Given the description of an element on the screen output the (x, y) to click on. 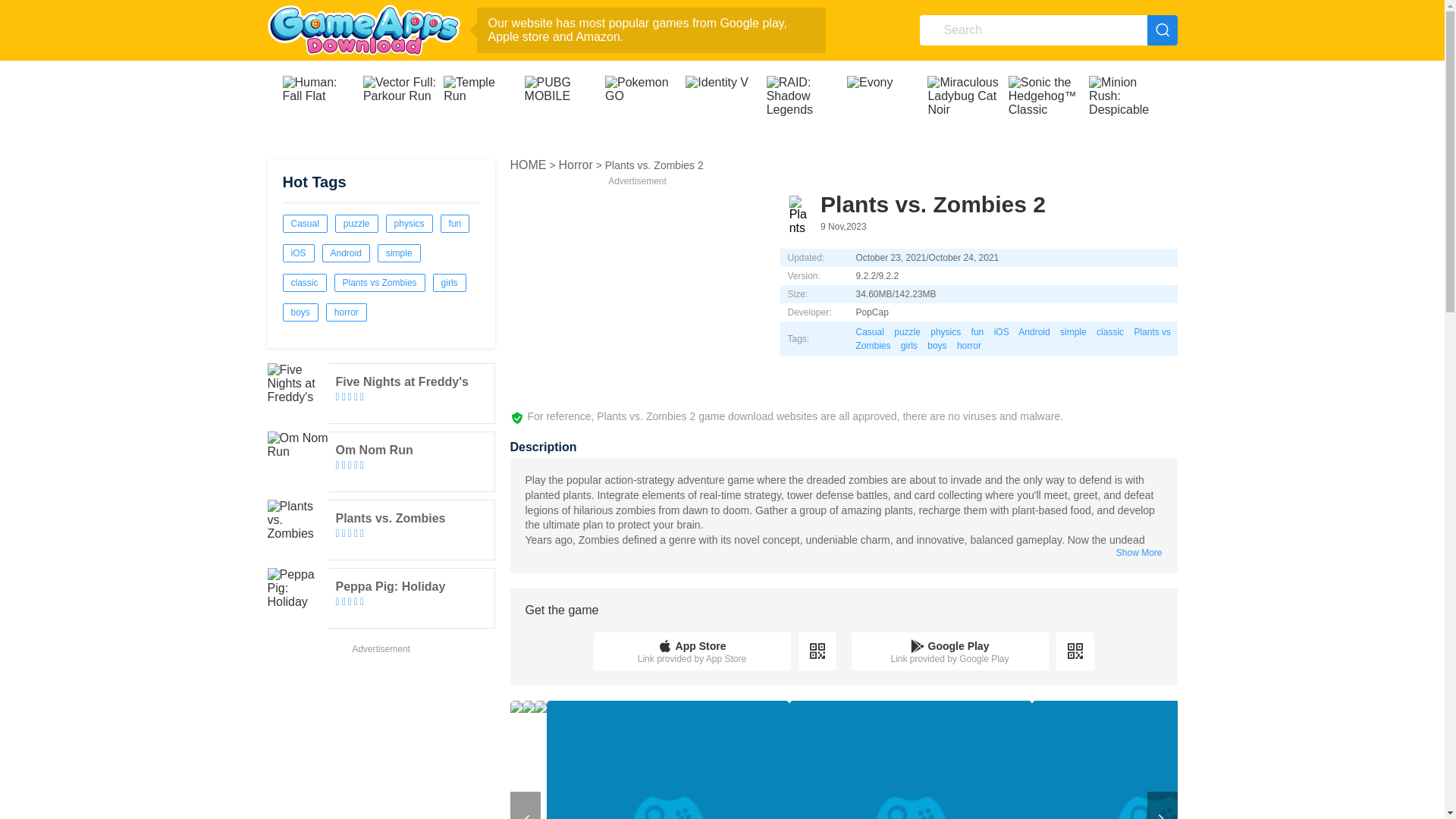
Om Nom Run (373, 449)
Plants vs. Zombies (389, 517)
simple (398, 253)
fun (455, 223)
Peppa Pig: Holiday (389, 585)
puzzle (356, 223)
Plants vs. Zombies (296, 529)
Five Nights at Freddy's (400, 381)
Om Nom Run (296, 461)
